Given the description of an element on the screen output the (x, y) to click on. 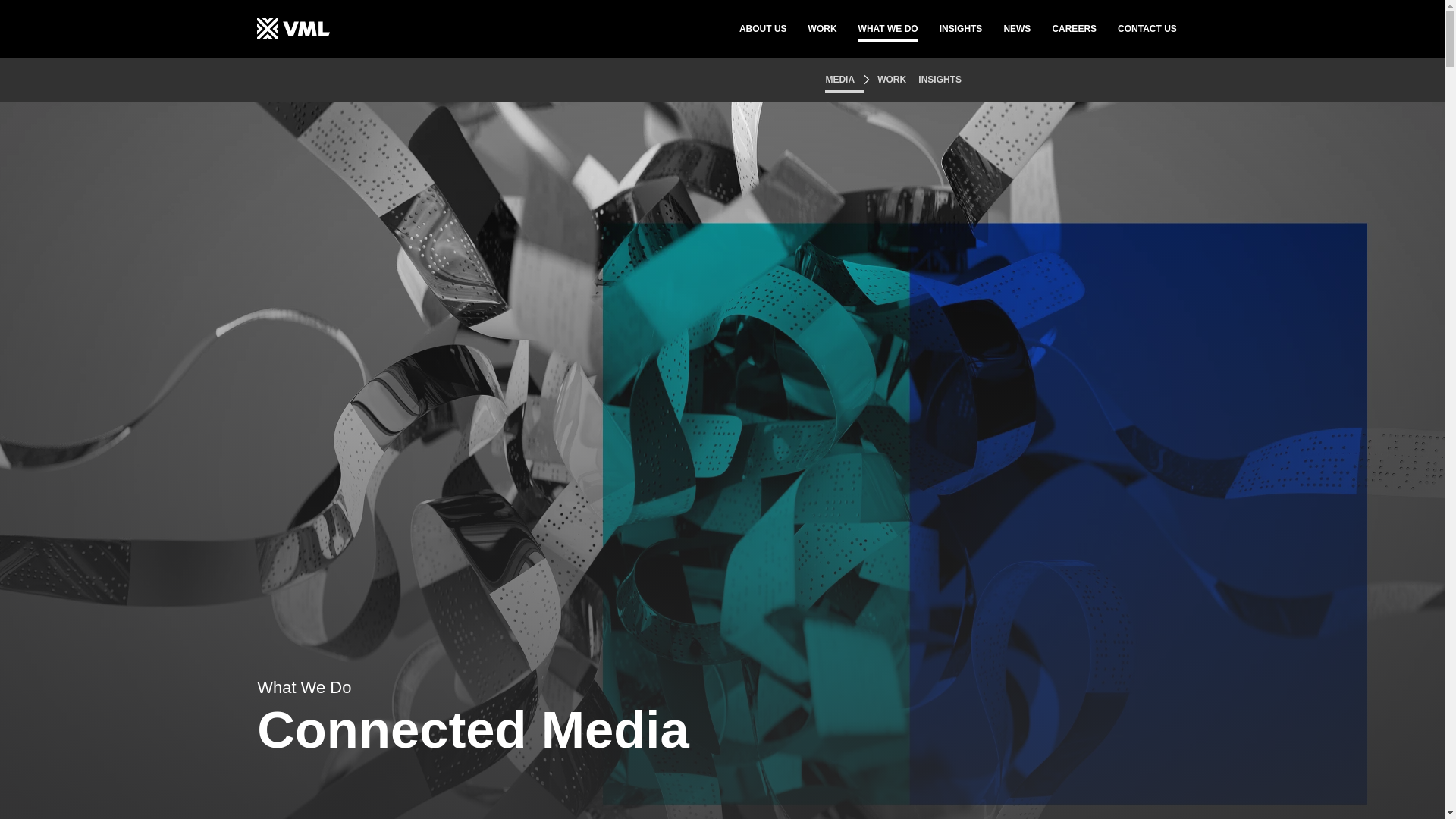
CAREERS (1073, 29)
WHAT WE DO (888, 29)
INSIGHTS (939, 79)
WORK (822, 29)
ABOUT US (763, 29)
NEWS (1016, 29)
WORK (892, 79)
INSIGHTS (960, 29)
MEDIA (844, 79)
CONTACT US (1147, 29)
